Given the description of an element on the screen output the (x, y) to click on. 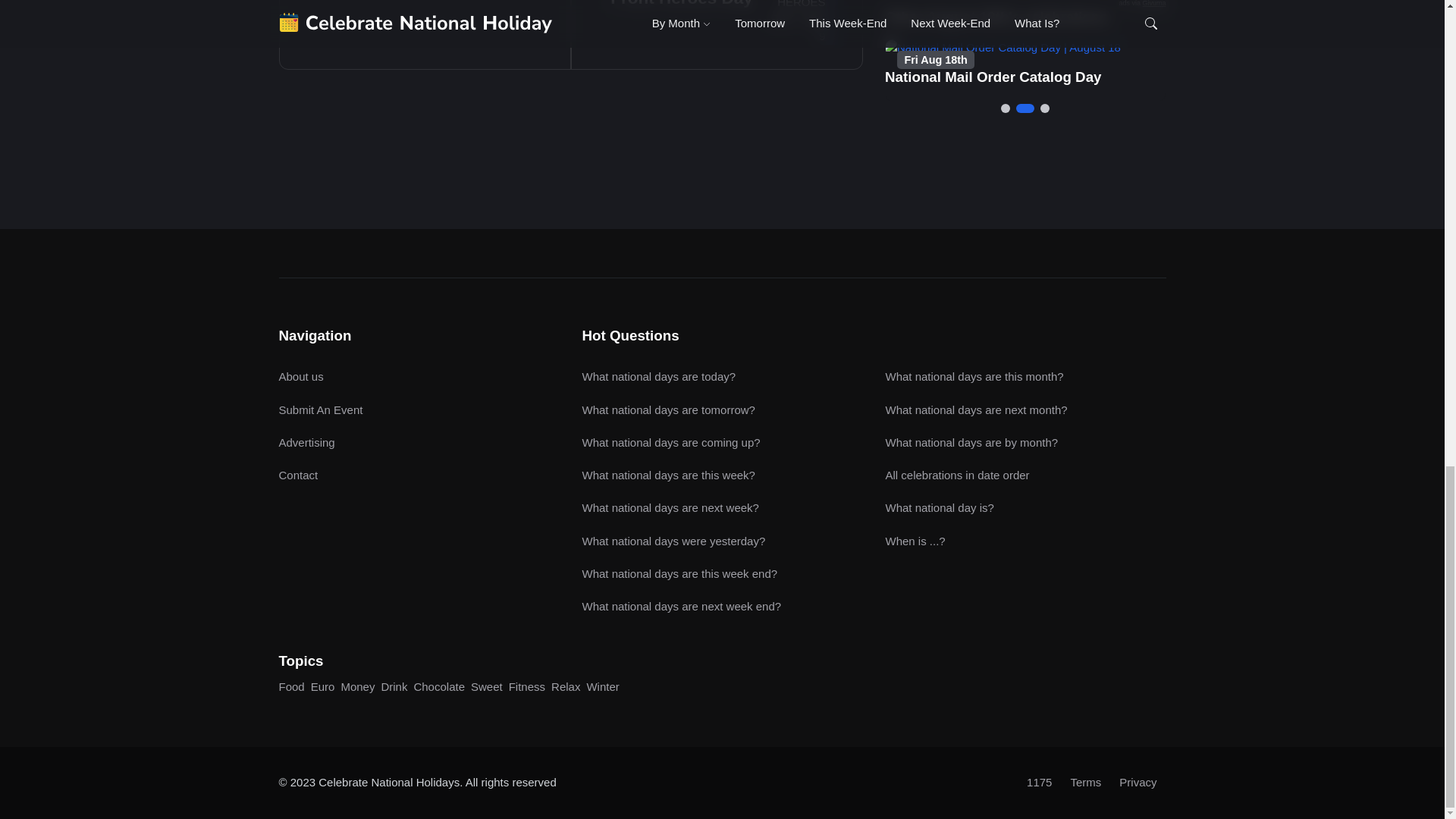
National Home Front Heroes Day (681, 3)
